Given the description of an element on the screen output the (x, y) to click on. 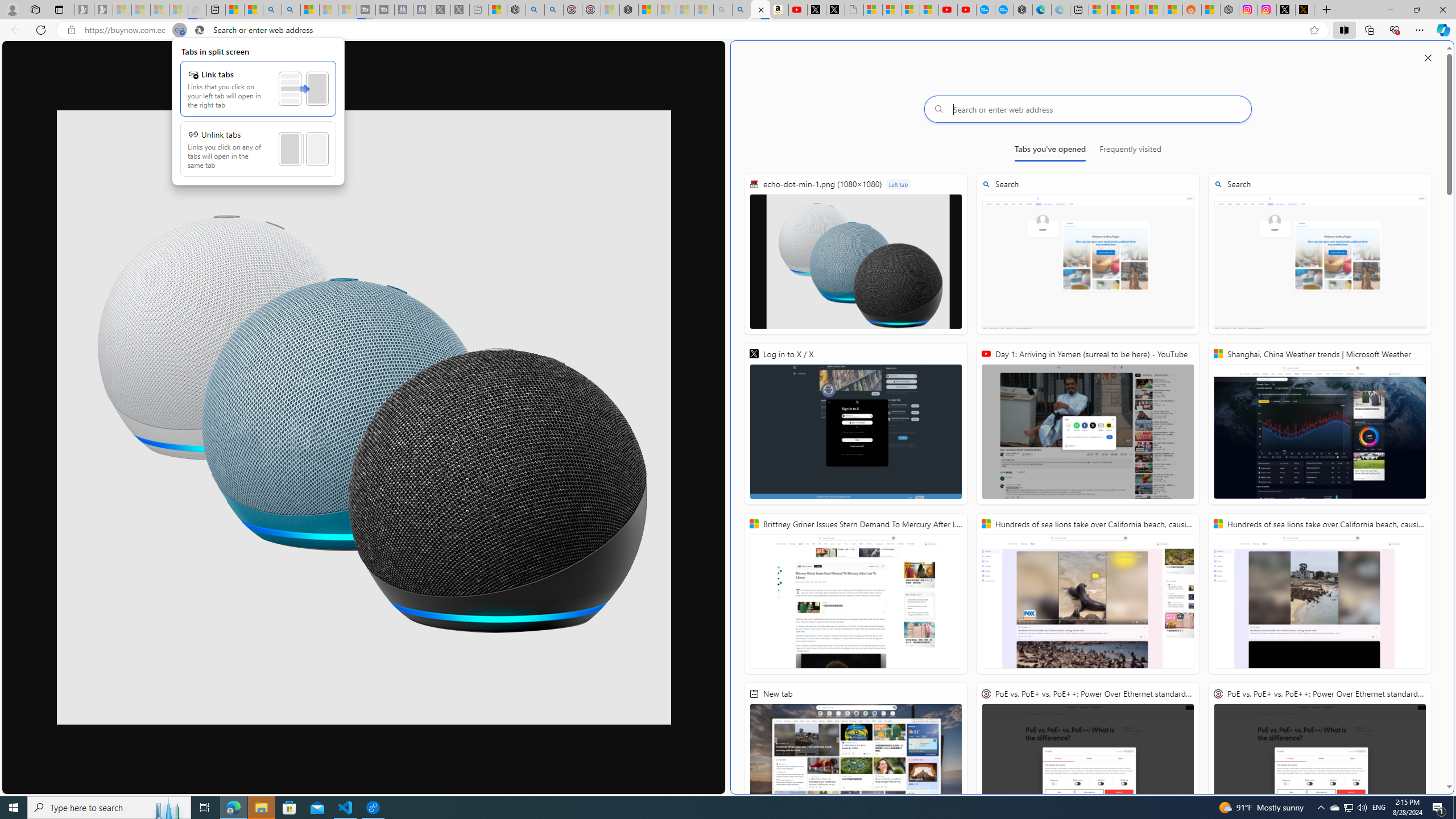
Nordace - Nordace has arrived Hong Kong (1022, 9)
Wildlife - MSN (497, 9)
amazon - Search - Sleeping (722, 9)
Address and search bar (692, 29)
Streaming Coverage | T3 - Sleeping (366, 9)
The most popular Google 'how to' searches (1004, 9)
Nordace - Summer Adventures 2024 (1229, 9)
Shanghai, China Weather trends | Microsoft Weather (1173, 9)
